Given the description of an element on the screen output the (x, y) to click on. 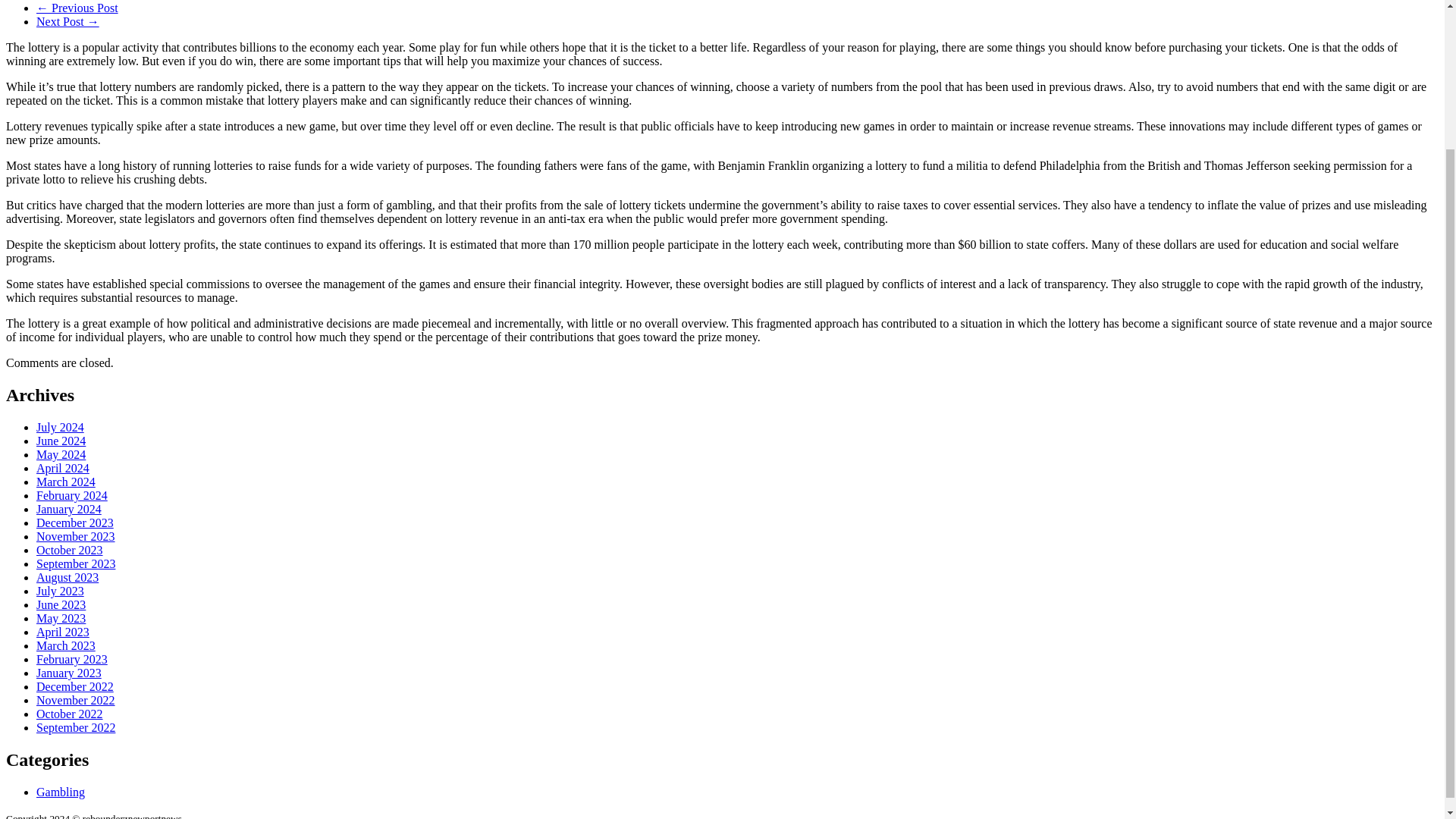
January 2024 (68, 508)
January 2023 (68, 672)
August 2023 (67, 576)
July 2023 (60, 590)
April 2023 (62, 631)
June 2024 (60, 440)
November 2023 (75, 535)
December 2023 (74, 522)
October 2022 (69, 713)
October 2023 (69, 549)
February 2023 (71, 658)
May 2024 (60, 454)
May 2023 (60, 617)
February 2024 (71, 495)
September 2023 (75, 563)
